Given the description of an element on the screen output the (x, y) to click on. 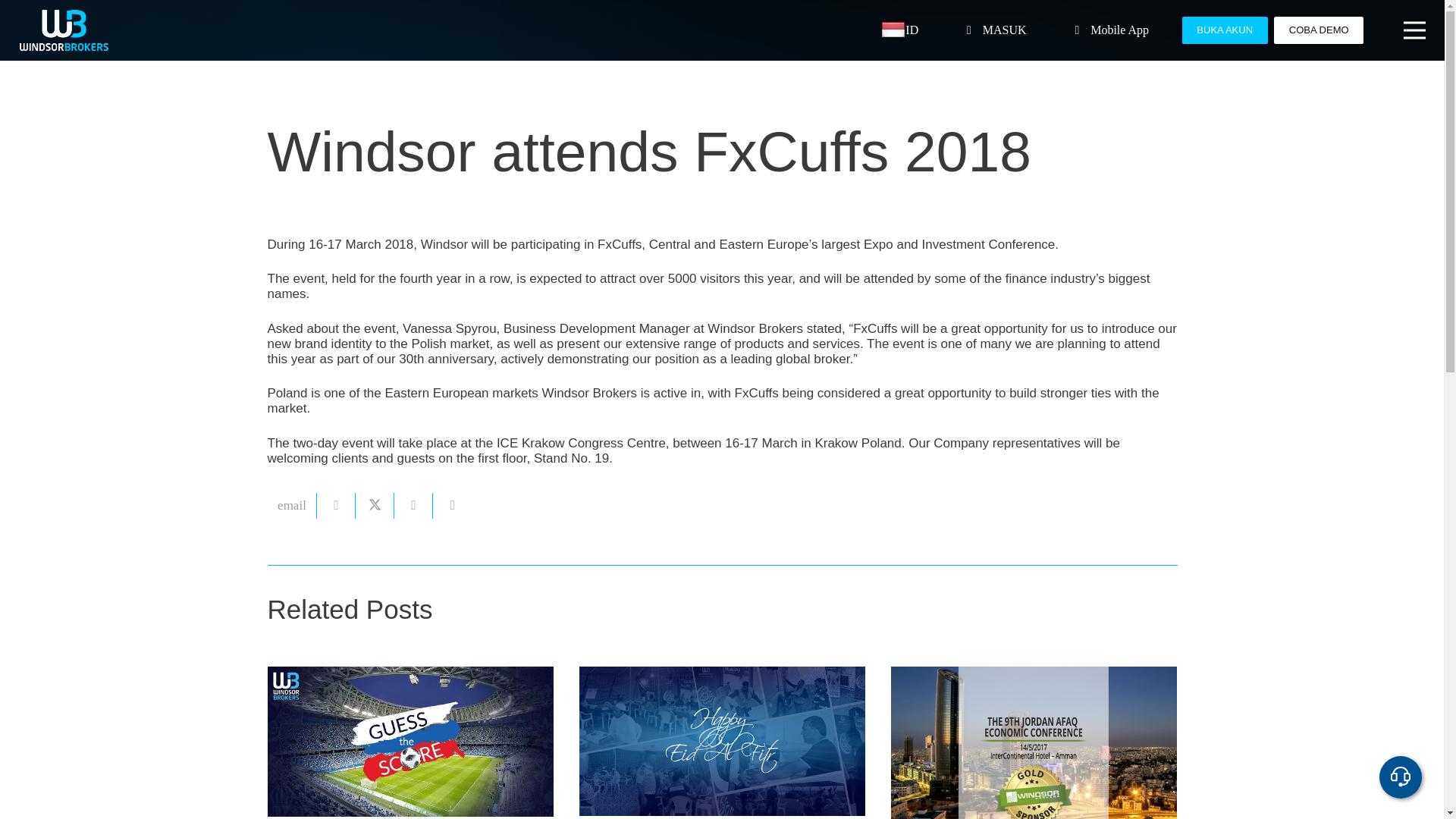
BUKA AKUN (1225, 30)
Mobile App (1111, 30)
COBA DEMO (1318, 30)
ID (899, 30)
Share this (336, 505)
Pin this (451, 505)
MASUK (997, 30)
Email this (291, 505)
Share this (413, 505)
Tweet this (374, 505)
